Given the description of an element on the screen output the (x, y) to click on. 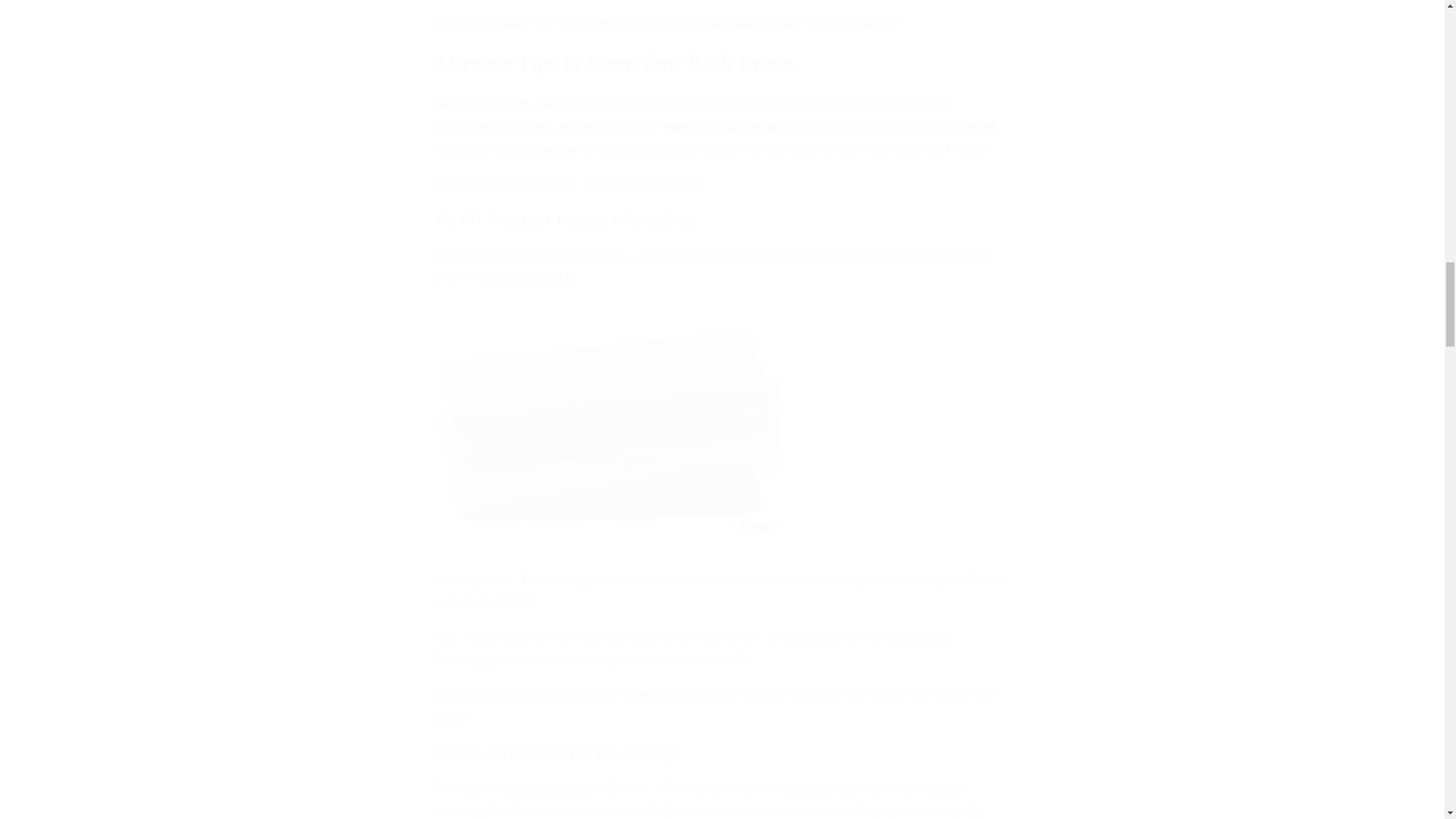
rner, (502, 255)
Bria (444, 255)
n Wa (473, 255)
